Given the description of an element on the screen output the (x, y) to click on. 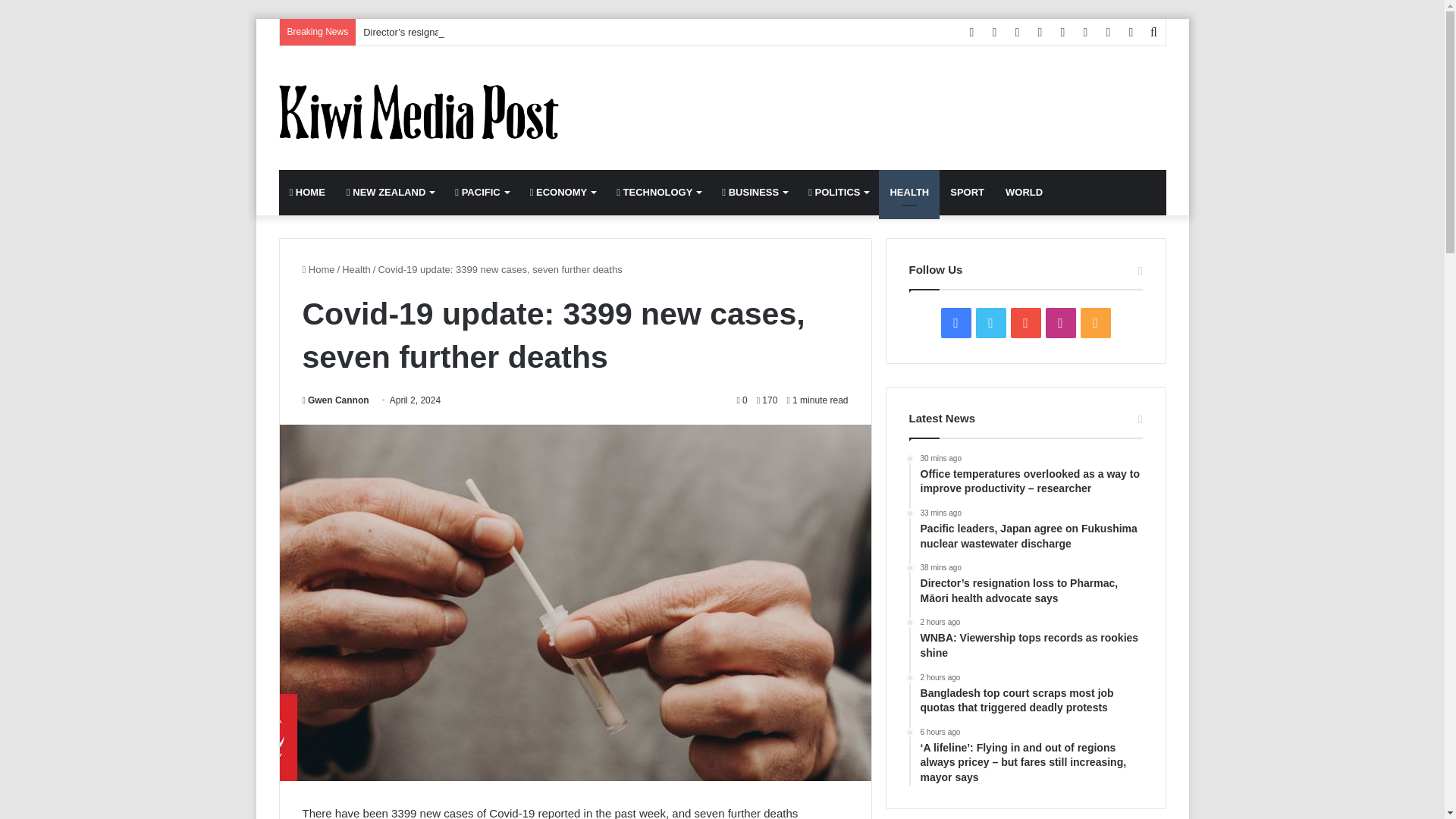
TECHNOLOGY (658, 192)
Health (356, 269)
POLITICS (838, 192)
WORLD (1023, 192)
Home (317, 269)
Gwen Cannon (334, 399)
NEW ZEALAND (390, 192)
PACIFIC (481, 192)
HEALTH (909, 192)
Gwen Cannon (334, 399)
HOME (307, 192)
kiwimediapost (419, 111)
ECONOMY (563, 192)
BUSINESS (754, 192)
SPORT (966, 192)
